Given the description of an element on the screen output the (x, y) to click on. 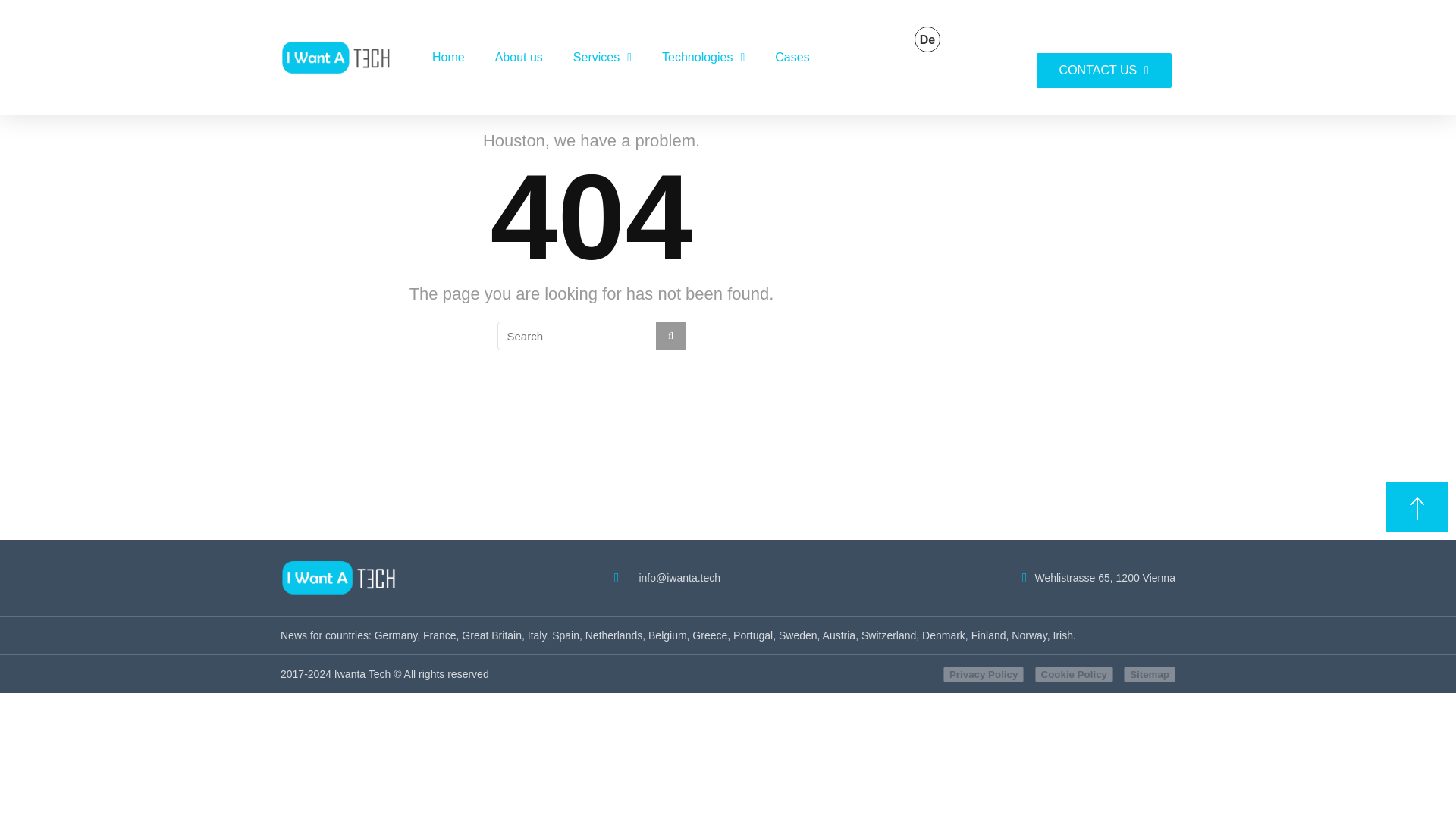
About us (518, 57)
logo-footer (344, 577)
Home (448, 57)
ARROW-UP (1417, 508)
Go to German website (927, 39)
Services (601, 57)
Cases (792, 57)
Technologies (703, 57)
logo (341, 57)
